Given the description of an element on the screen output the (x, y) to click on. 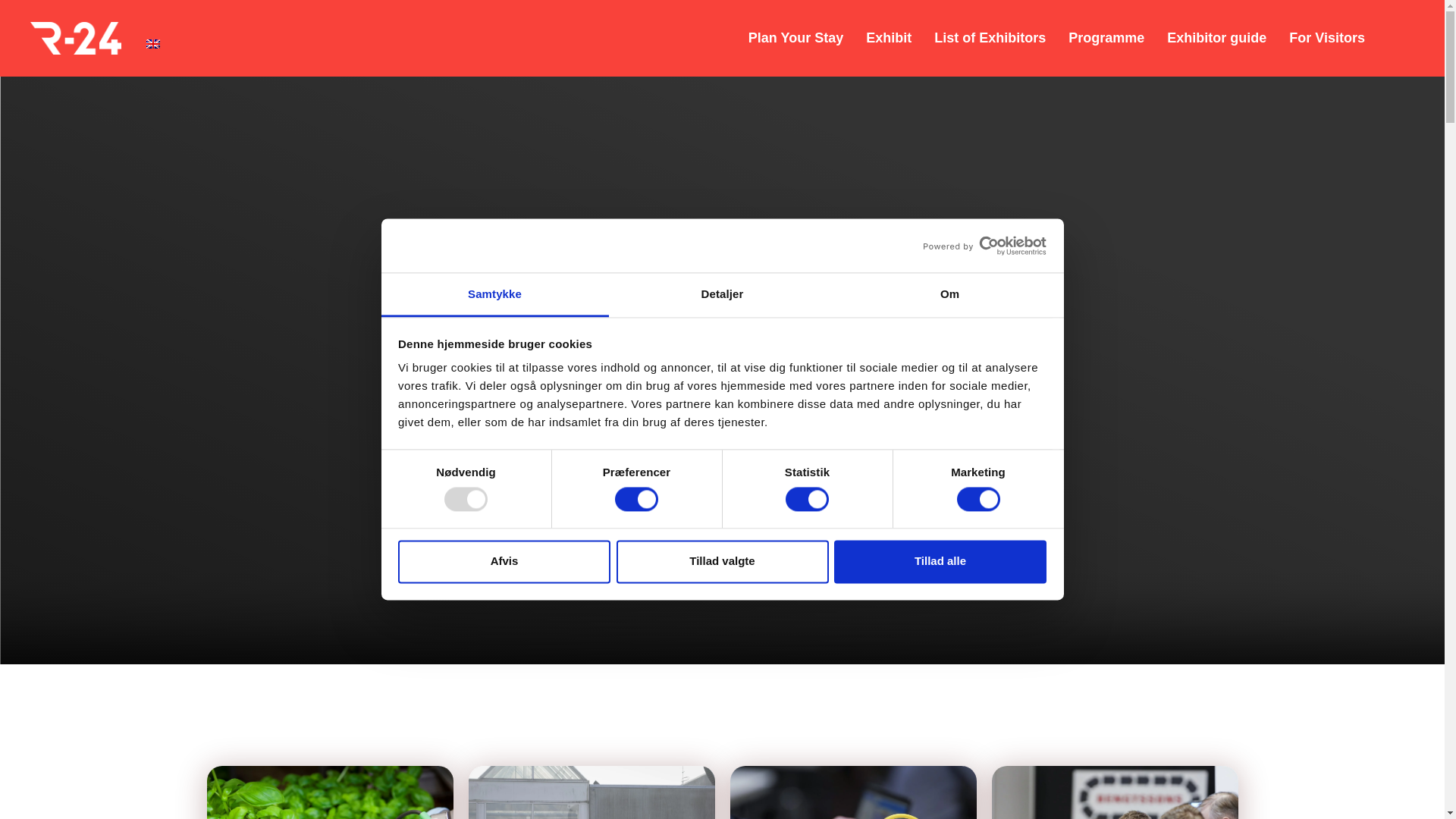
Om (948, 294)
Detaljer (721, 294)
Samtykke (494, 294)
